Given the description of an element on the screen output the (x, y) to click on. 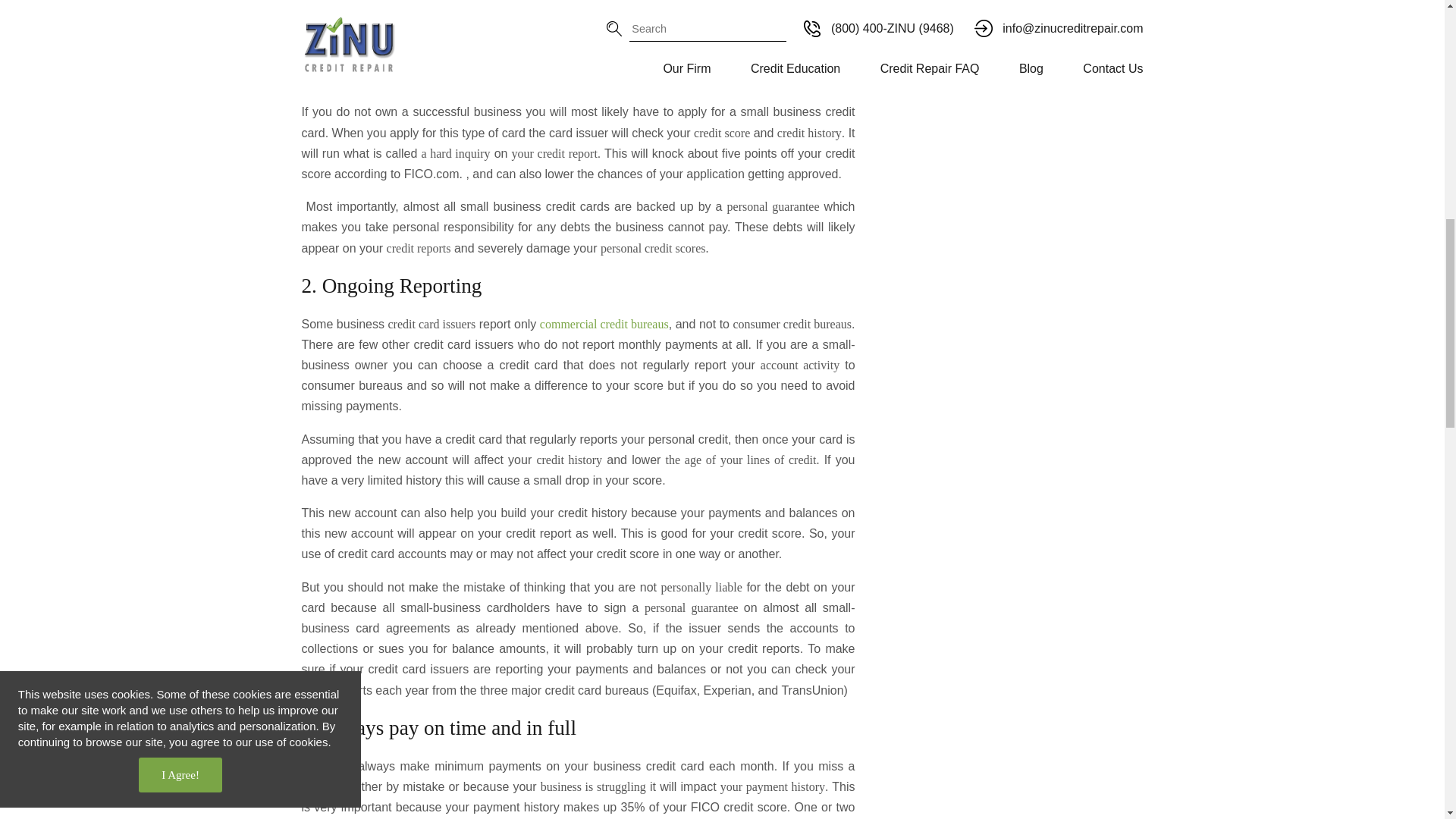
commercial credit bureaus (604, 323)
